Given the description of an element on the screen output the (x, y) to click on. 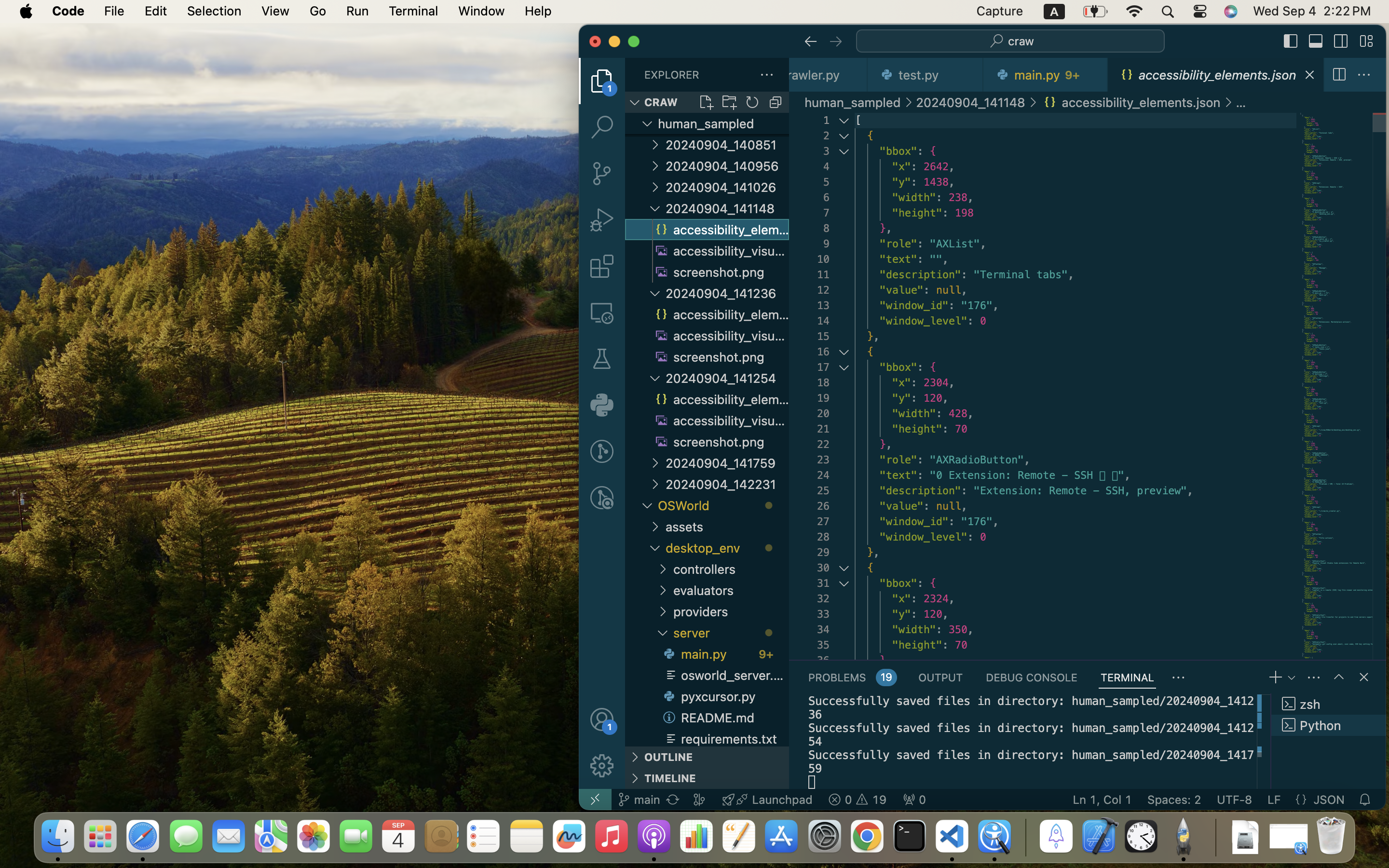
Python  Element type: AXGroup (1328, 724)
0  Element type: AXRadioButton (601, 312)
 0 Element type: AXButton (914, 799)
0 PROBLEMS 19 Element type: AXRadioButton (851, 676)
 Element type: AXGroup (601, 358)
